Given the description of an element on the screen output the (x, y) to click on. 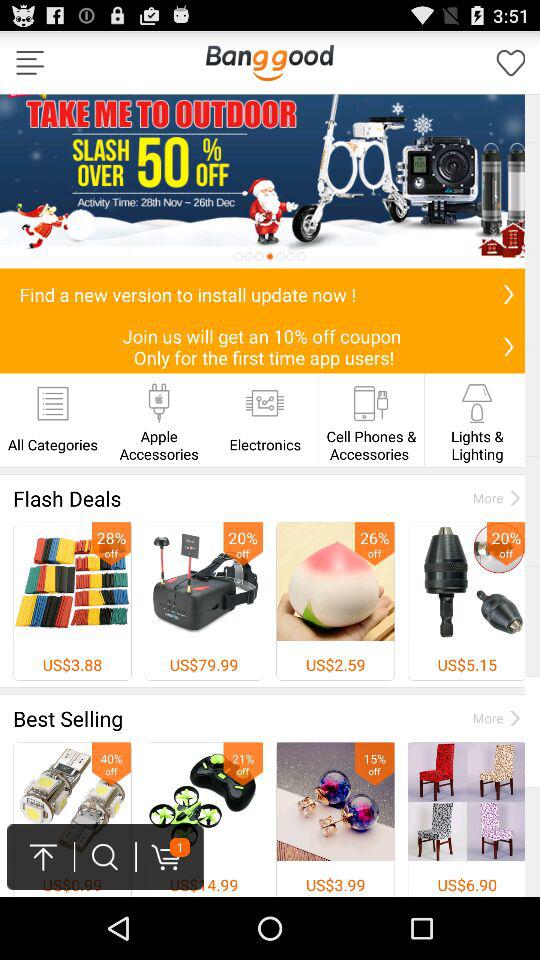
favorite this page (511, 62)
